Given the description of an element on the screen output the (x, y) to click on. 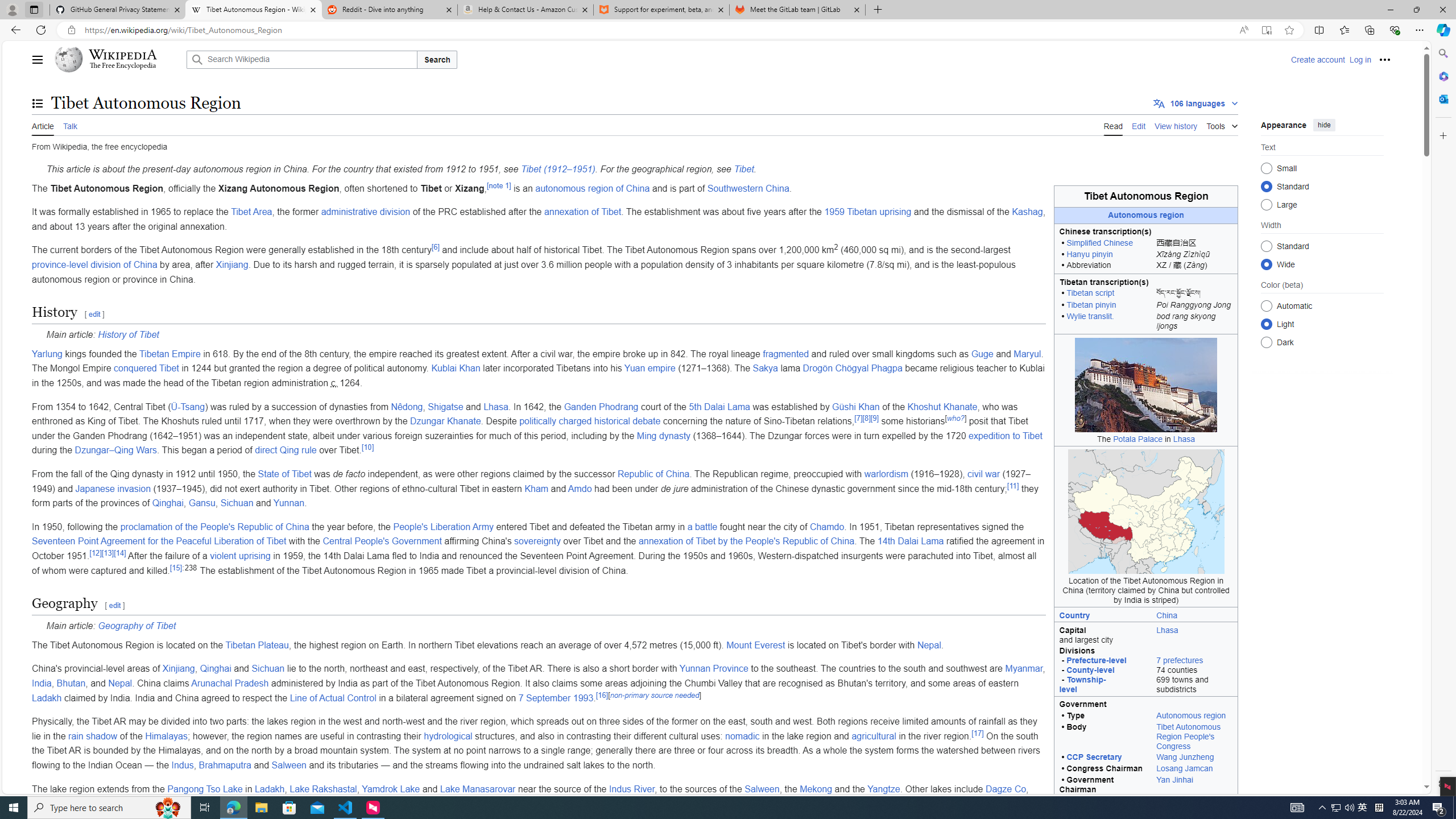
Toggle the table of contents (37, 103)
Township- level (1082, 683)
Yunnan (288, 502)
Tibetan script (1090, 293)
Kham (536, 488)
[8] (865, 417)
who? (954, 417)
Yuan empire (649, 368)
Tibetan Plateau (256, 644)
edit (114, 605)
